Given the description of an element on the screen output the (x, y) to click on. 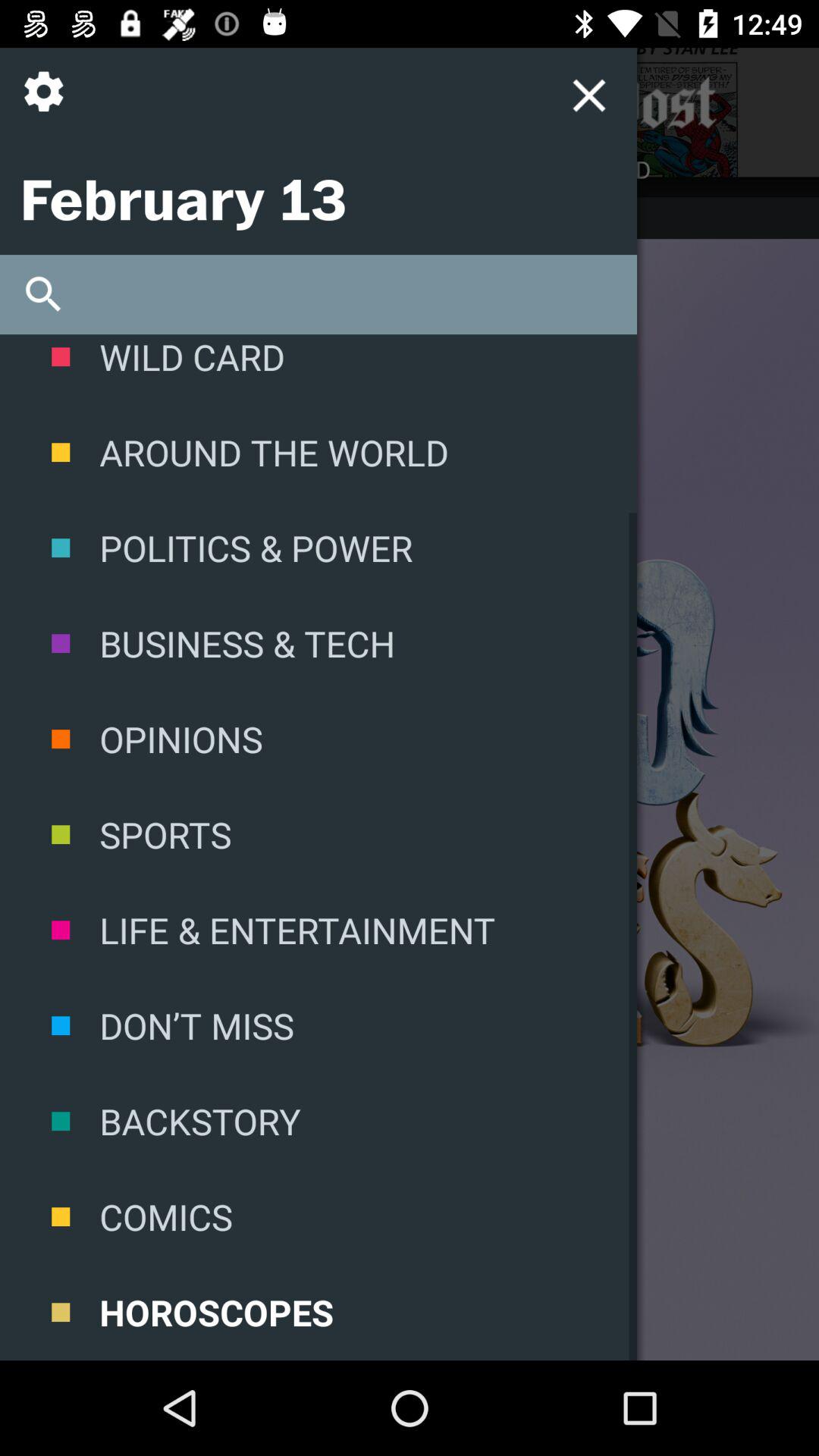
use search function (318, 294)
